Given the description of an element on the screen output the (x, y) to click on. 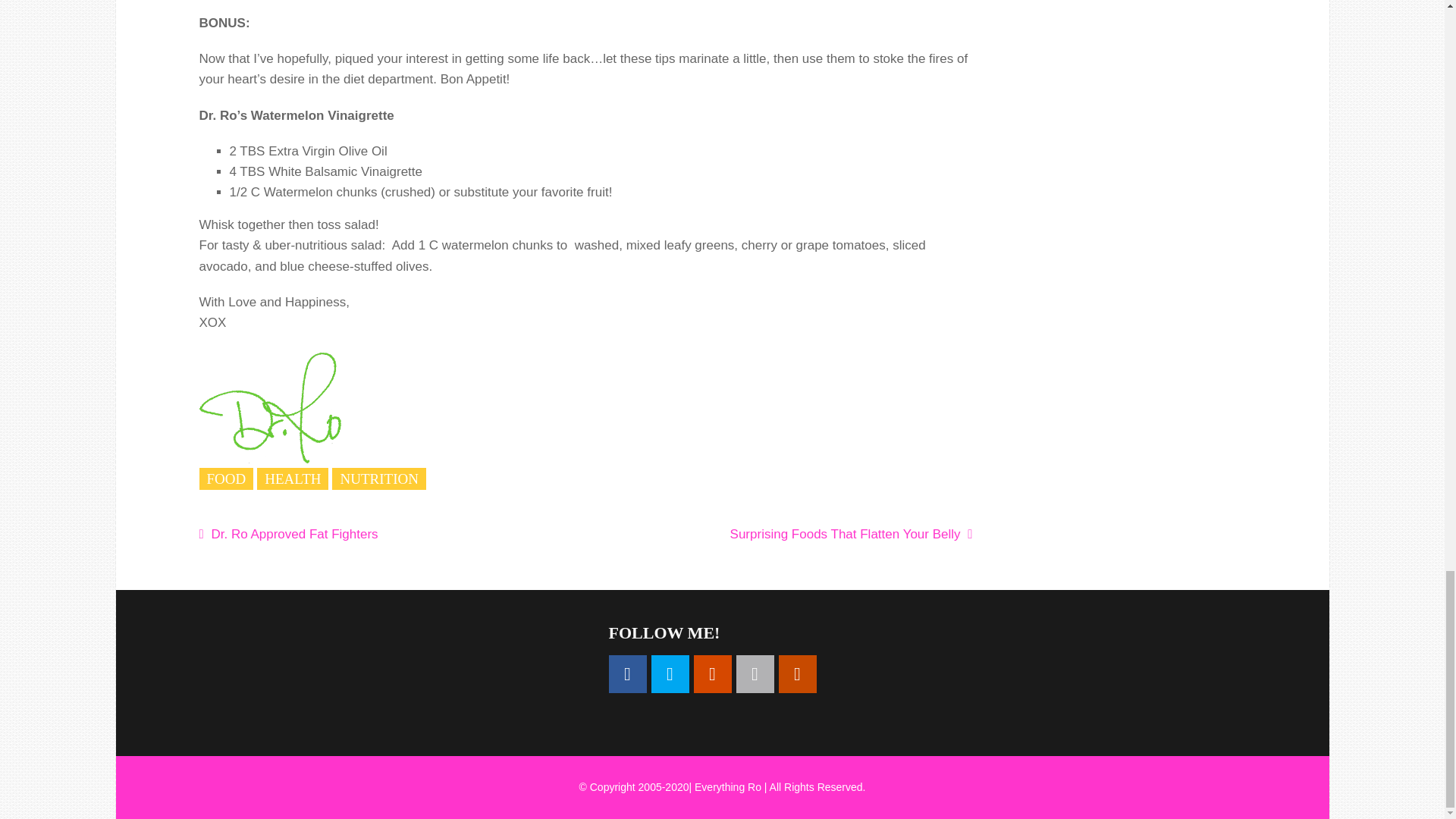
Dr. Ro Approved Fat Fighters (380, 534)
Surprising Foods That Flatten Your Belly (790, 534)
NUTRITION (378, 478)
HEALTH (293, 478)
FOOD (225, 478)
